Given the description of an element on the screen output the (x, y) to click on. 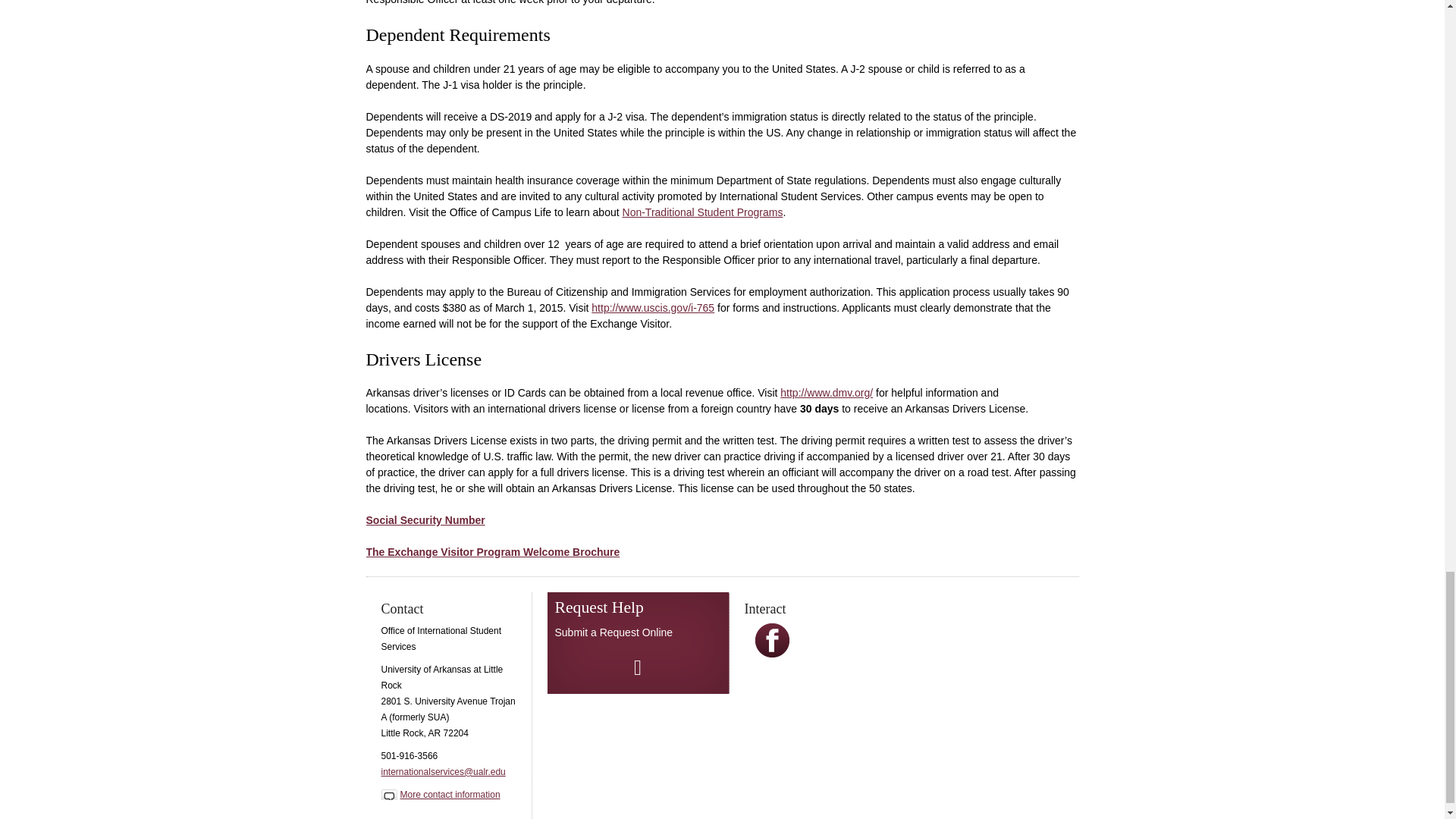
Facebook (772, 654)
Facebook (772, 640)
